Given the description of an element on the screen output the (x, y) to click on. 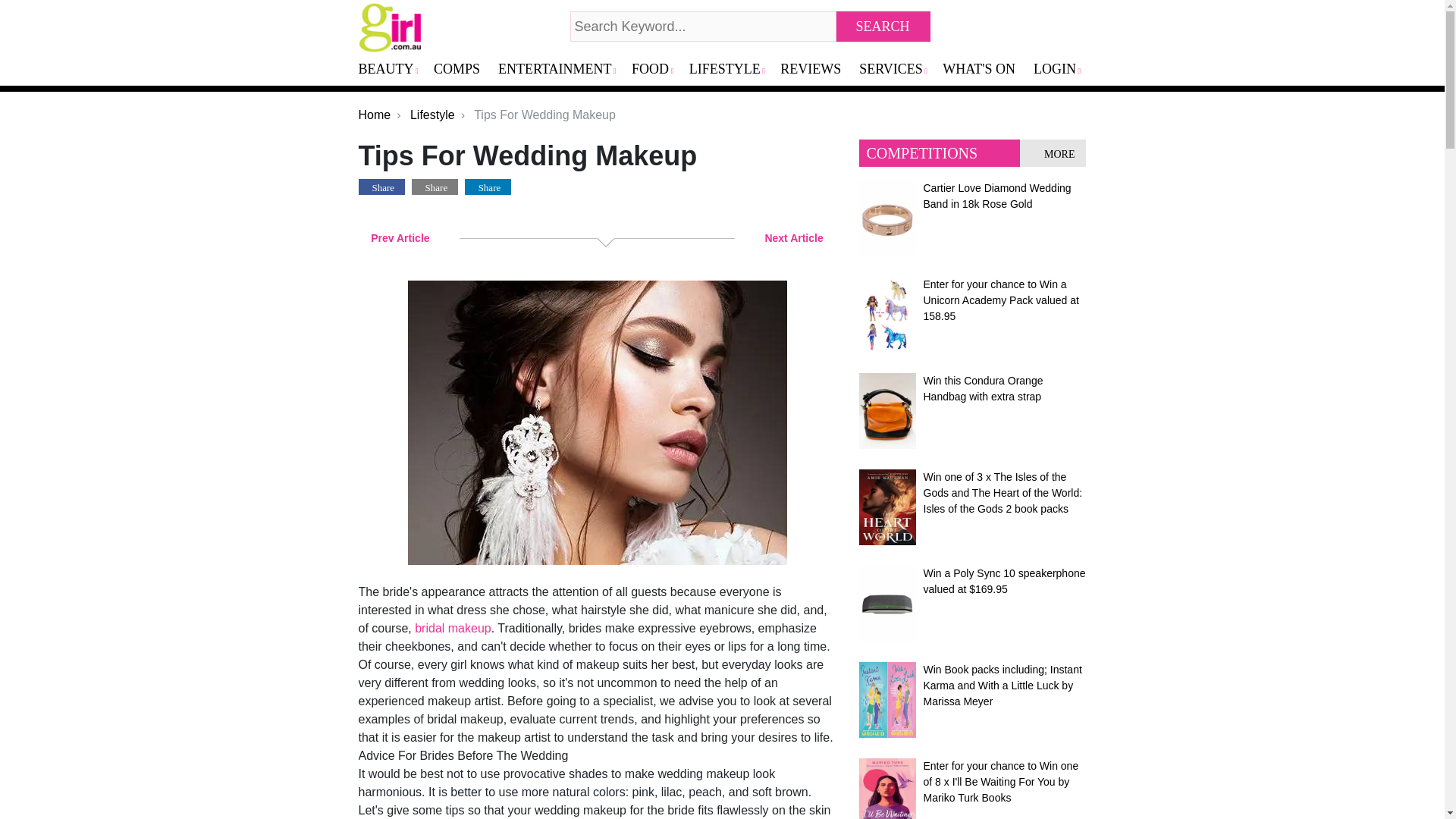
ENTERTAINMENT (561, 69)
SEARCH (882, 26)
SEARCH (882, 26)
BEAUTY (393, 69)
Previous Article (396, 238)
Next Article (796, 238)
SEARCH (882, 26)
FOOD (656, 69)
LIFESTYLE (731, 69)
COMPS (462, 69)
